Given the description of an element on the screen output the (x, y) to click on. 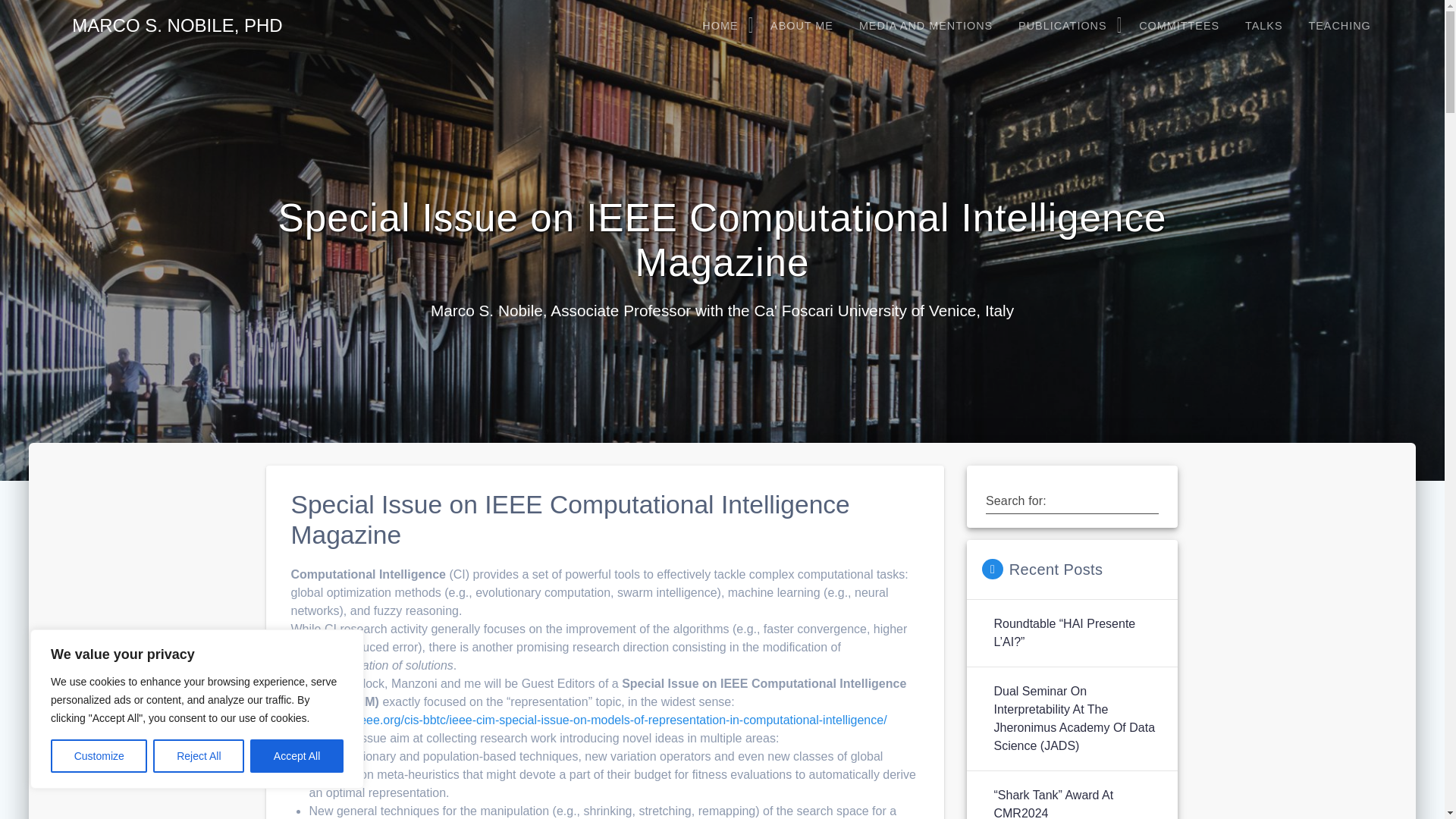
Reject All (198, 756)
Accept All (296, 756)
TALKS (1263, 26)
Customize (98, 756)
ABOUT ME (801, 26)
PUBLICATIONS (1065, 26)
HOME (723, 26)
COMMITTEES (1178, 26)
TEACHING (1339, 26)
MARCO S. NOBILE, PHD (176, 25)
MEDIA AND MENTIONS (925, 26)
